Given the description of an element on the screen output the (x, y) to click on. 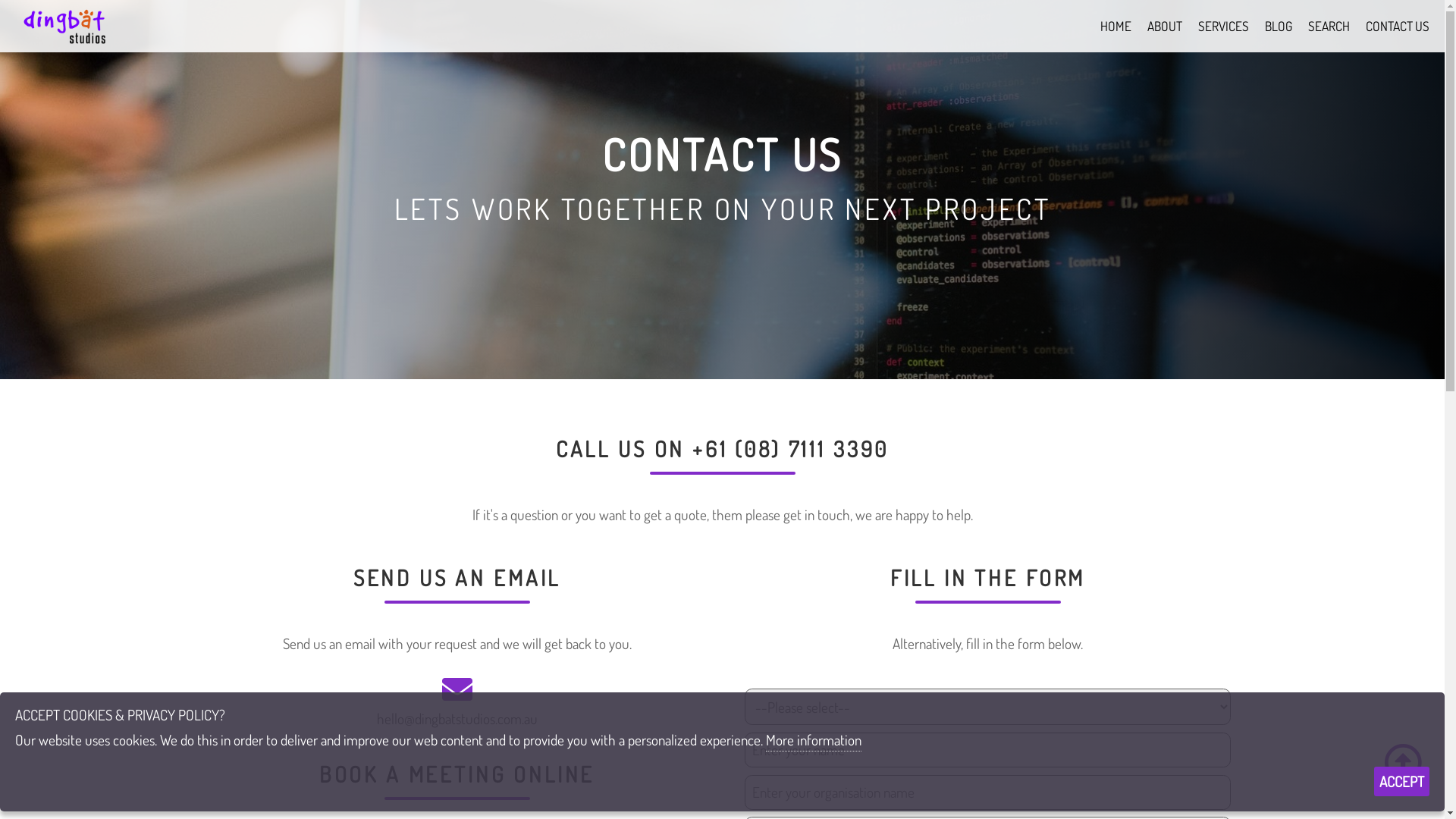
HOME Element type: text (1115, 25)
CONTACT US Element type: text (1397, 25)
SERVICES Element type: text (1223, 25)
ABOUT Element type: text (1164, 25)
ACCEPT Element type: text (1401, 781)
SEARCH Element type: text (1328, 25)
BLOG Element type: text (1278, 25)
Go to top Element type: hover (1402, 762)
+61 (08) 7111 3390 Element type: text (790, 448)
More information Element type: text (813, 740)
